Given the description of an element on the screen output the (x, y) to click on. 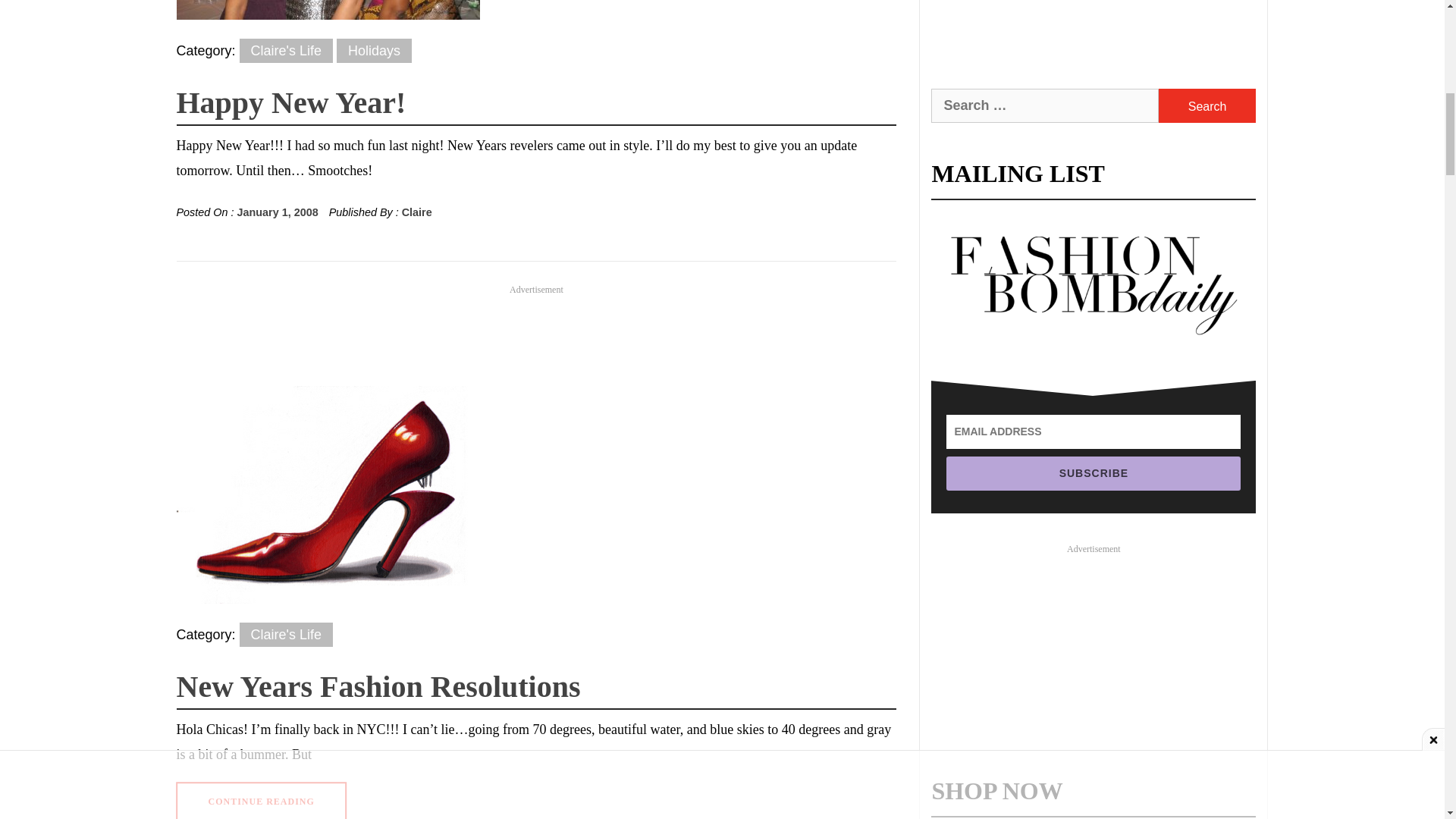
3rd party ad content (1093, 648)
3rd party ad content (1093, 26)
3rd party ad content (536, 328)
Search (1206, 105)
Search (1206, 105)
